Given the description of an element on the screen output the (x, y) to click on. 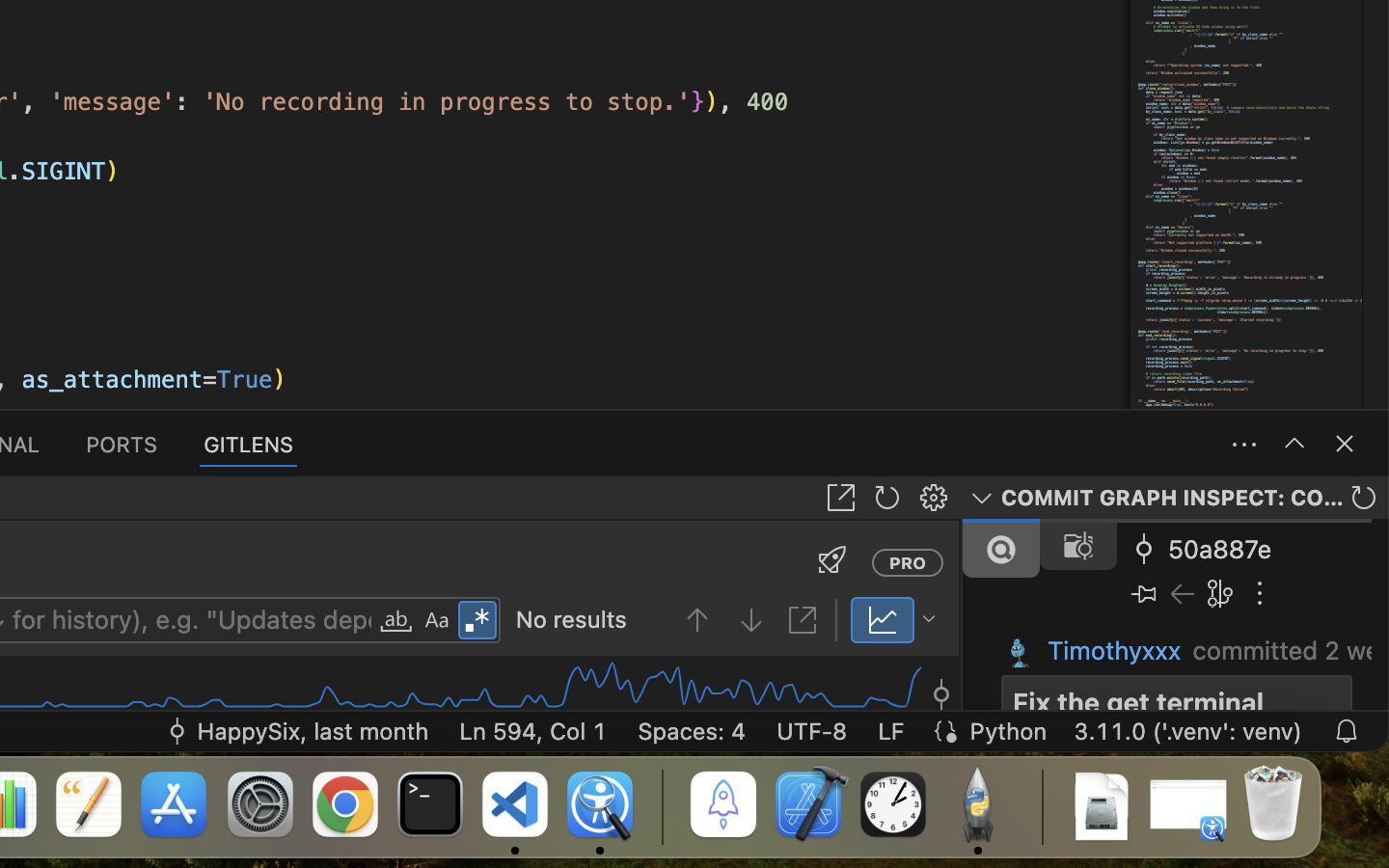
COMMIT GRAPH INSPECT: COMMIT DETAILS   Element type: AXButton (1175, 497)
 Element type: AXCheckBox (396, 620)
 Element type: AXStaticText (832, 558)
 Element type: AXButton (887, 497)
Fix the get terminal output error caused by namespace parameter changes Timothyxxx committed 50a887e 2 weeks ago        Element type: AXGroup (1175, 613)
